Given the description of an element on the screen output the (x, y) to click on. 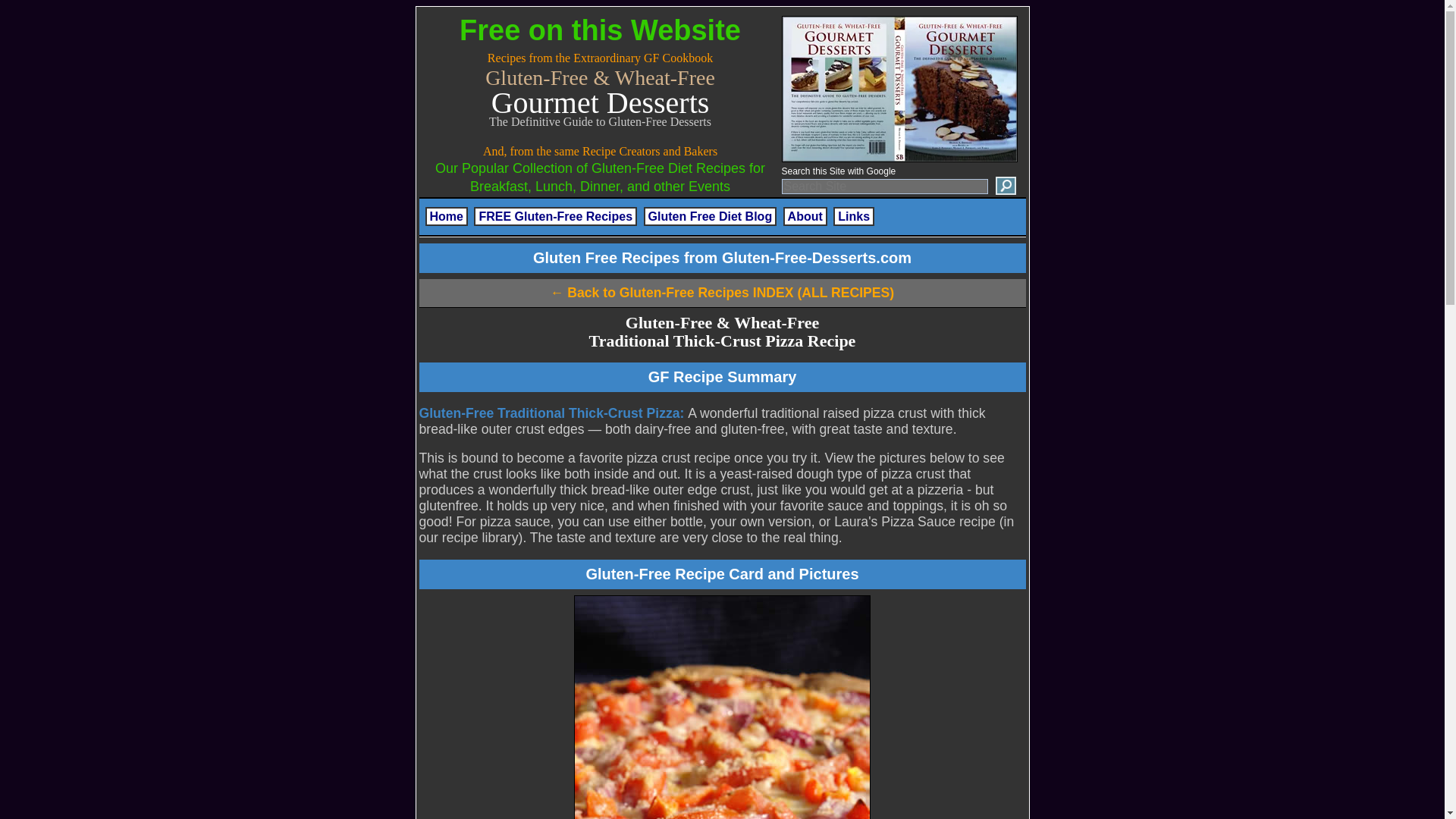
Links (853, 216)
Gluten Free Diet Blog (710, 216)
Home (446, 216)
About (805, 216)
FREE Gluten-Free Recipes (555, 216)
